Given the description of an element on the screen output the (x, y) to click on. 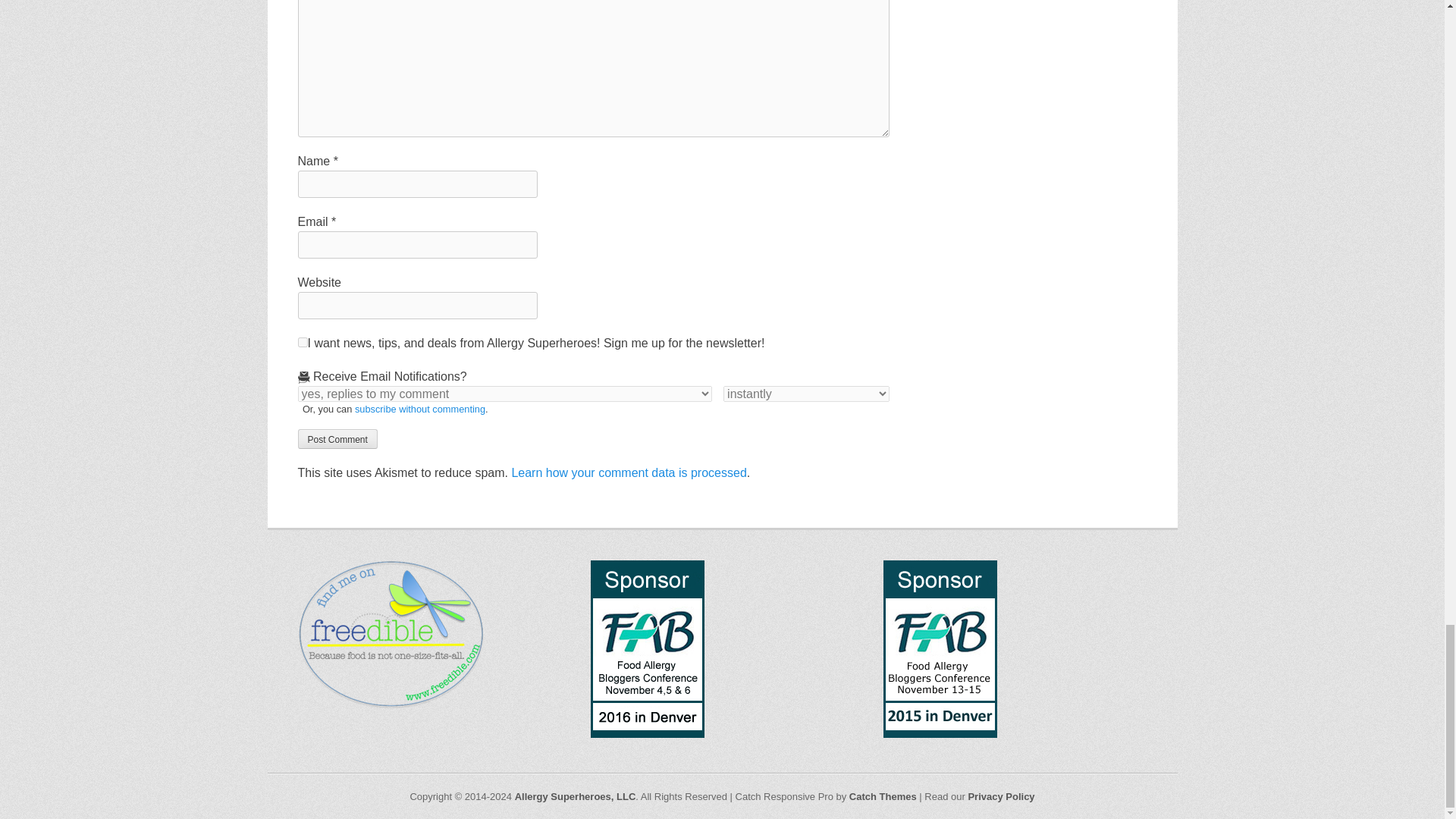
1 (302, 342)
Post Comment (337, 438)
